Given the description of an element on the screen output the (x, y) to click on. 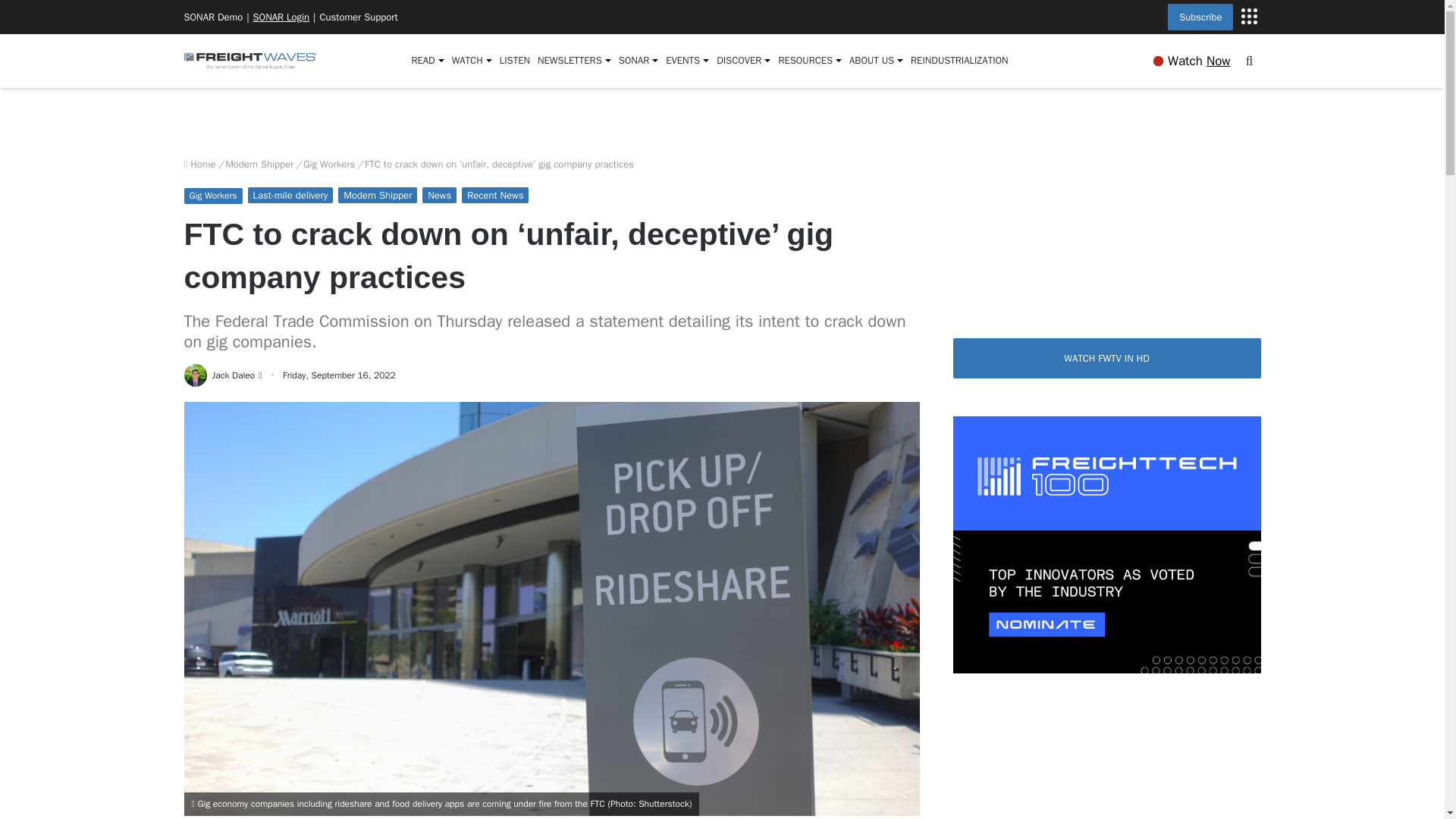
Subscribe (1200, 17)
SONAR Login (281, 16)
 Subscribe (1248, 15)
SONAR Demo (213, 16)
Customer Support (357, 16)
FreightWaves (249, 61)
